Given the description of an element on the screen output the (x, y) to click on. 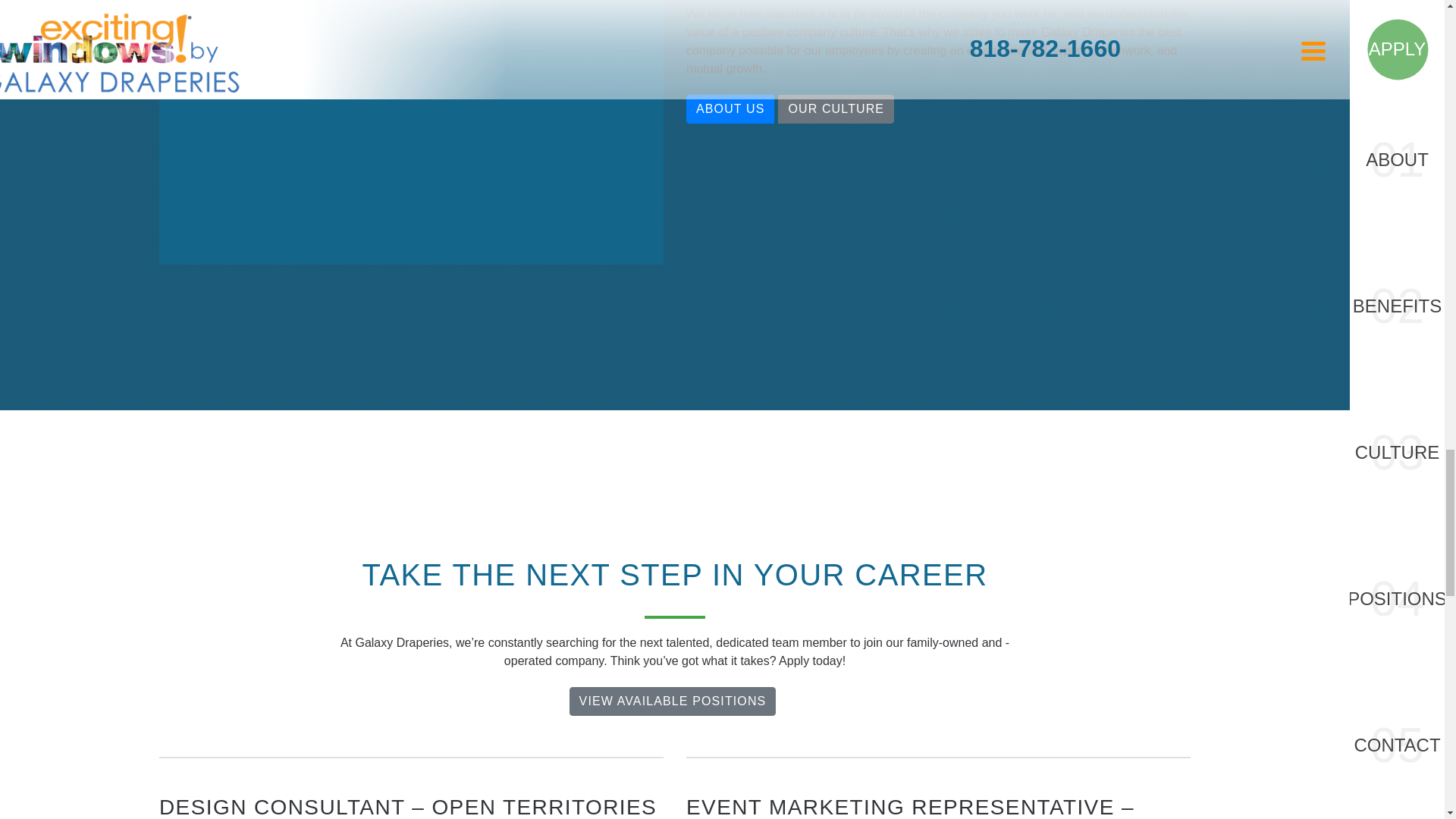
VIEW AVAILABLE POSITIONS (672, 701)
ABOUT US (729, 109)
OUR CULTURE (835, 109)
